Given the description of an element on the screen output the (x, y) to click on. 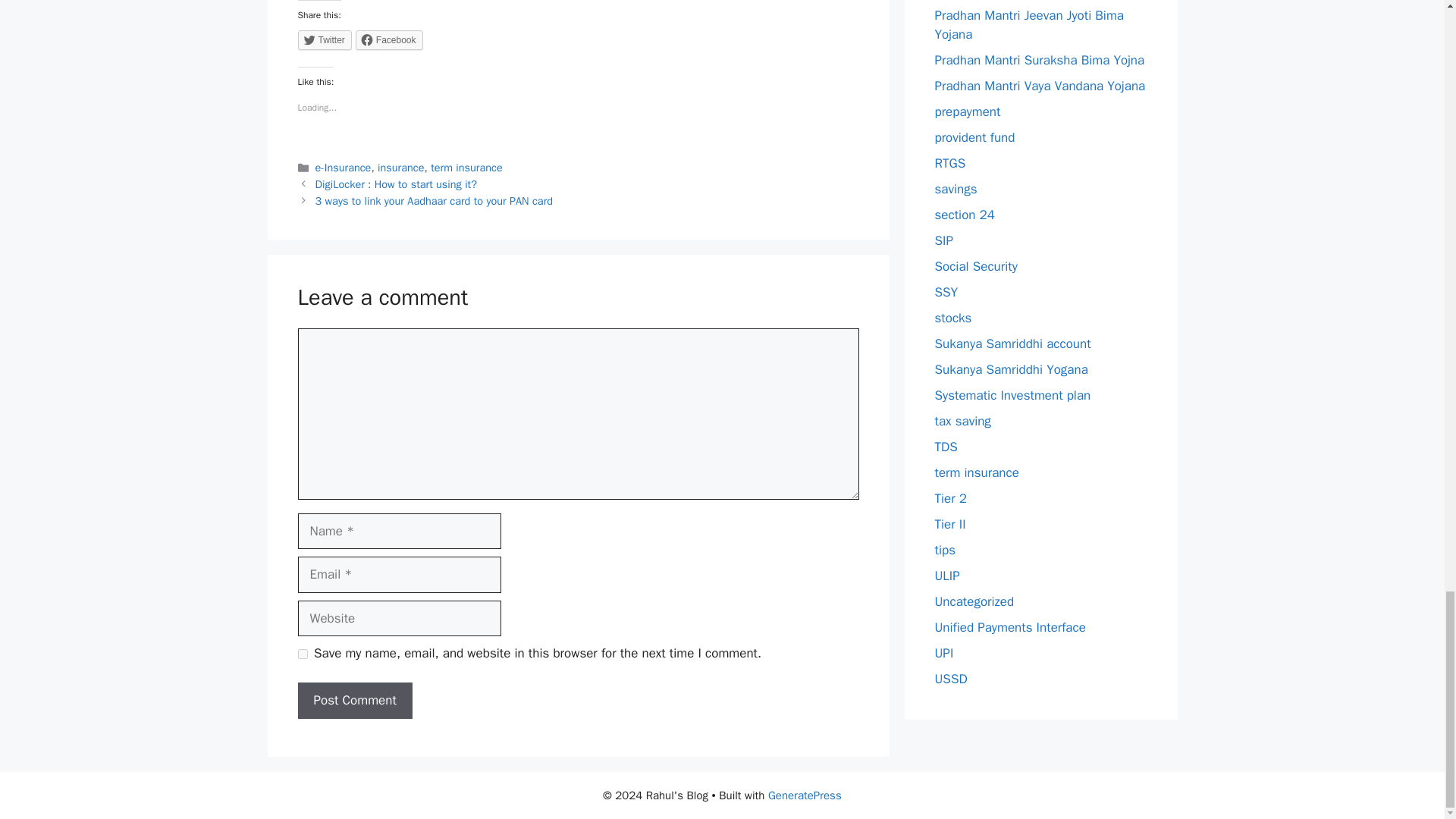
Previous (396, 183)
Click to share on Facebook (389, 39)
DigiLocker : How to start using it? (396, 183)
Post Comment (354, 700)
Twitter (323, 39)
yes (302, 654)
term insurance (466, 167)
e-Insurance (343, 167)
Next (434, 201)
Facebook (389, 39)
